Given the description of an element on the screen output the (x, y) to click on. 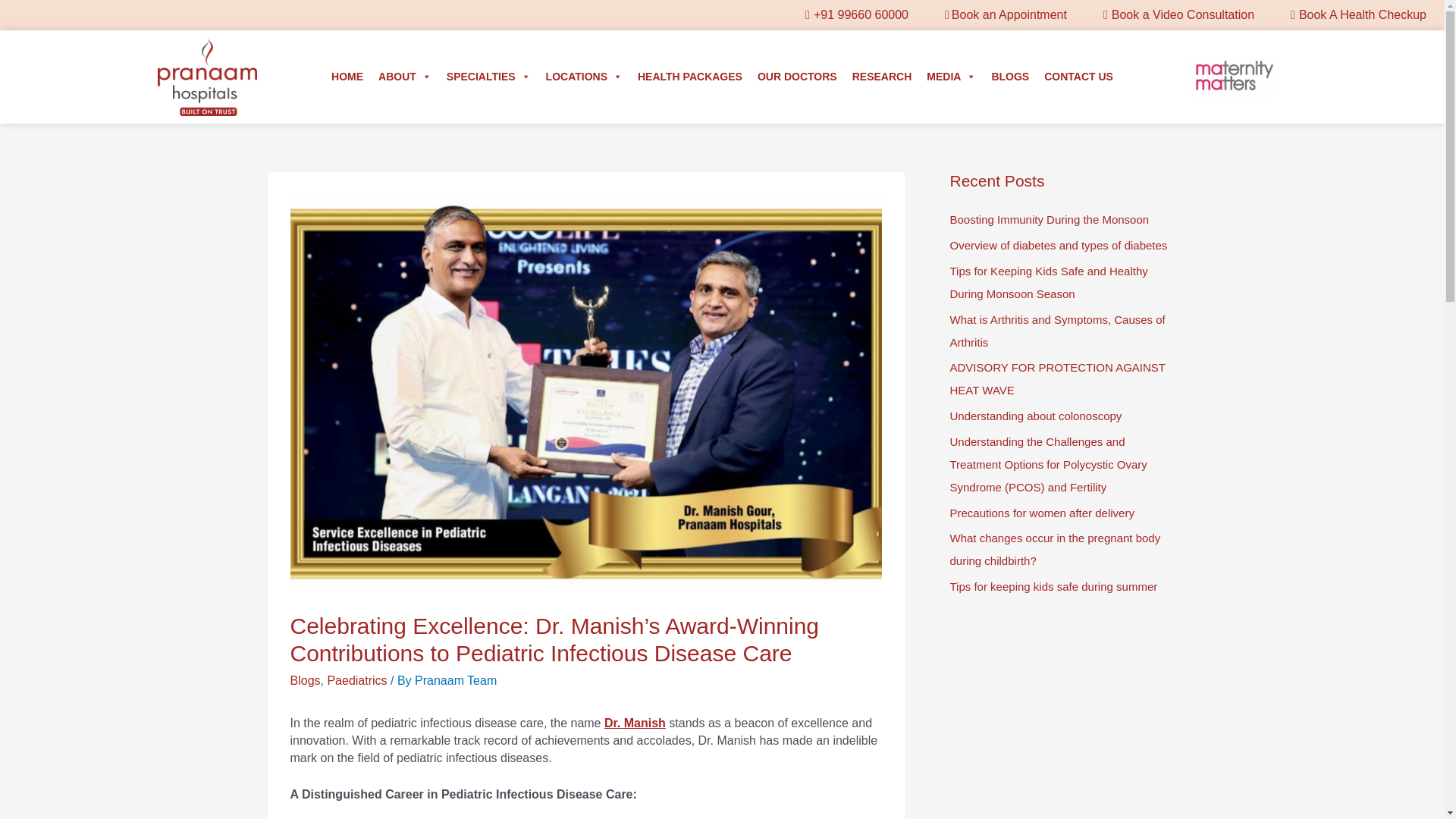
View all posts by Pranaam Team (455, 680)
